Given the description of an element on the screen output the (x, y) to click on. 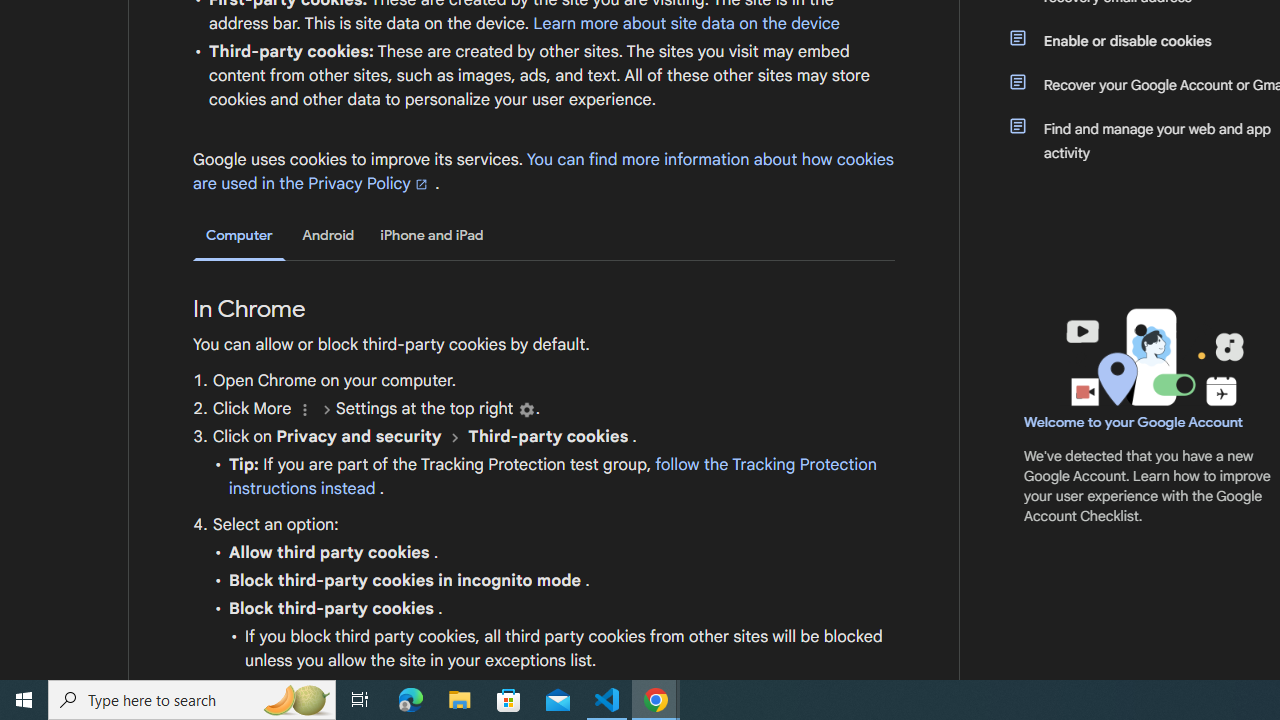
follow the Tracking Protection instructions instead (552, 476)
More (303, 409)
Computer (239, 235)
Android (328, 235)
Learning Center home page image (1152, 357)
Institutions (526, 409)
iPhone and iPad (431, 235)
Welcome to your Google Account (1134, 422)
and then (454, 437)
Learn more about site data on the device (686, 23)
